Given the description of an element on the screen output the (x, y) to click on. 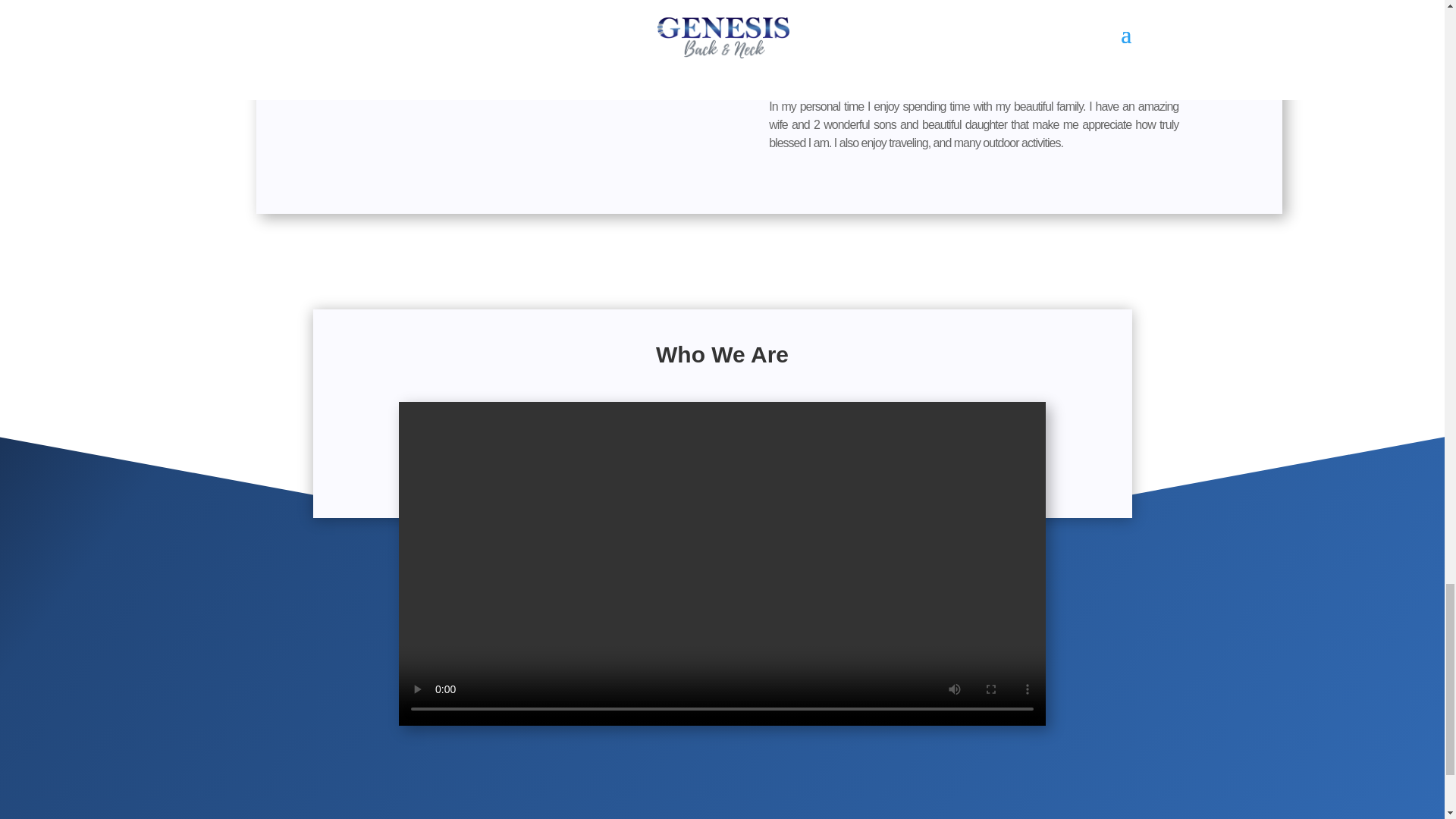
genesis-back-dr-travis (419, 158)
Rectangle 18 (295, 65)
